Given the description of an element on the screen output the (x, y) to click on. 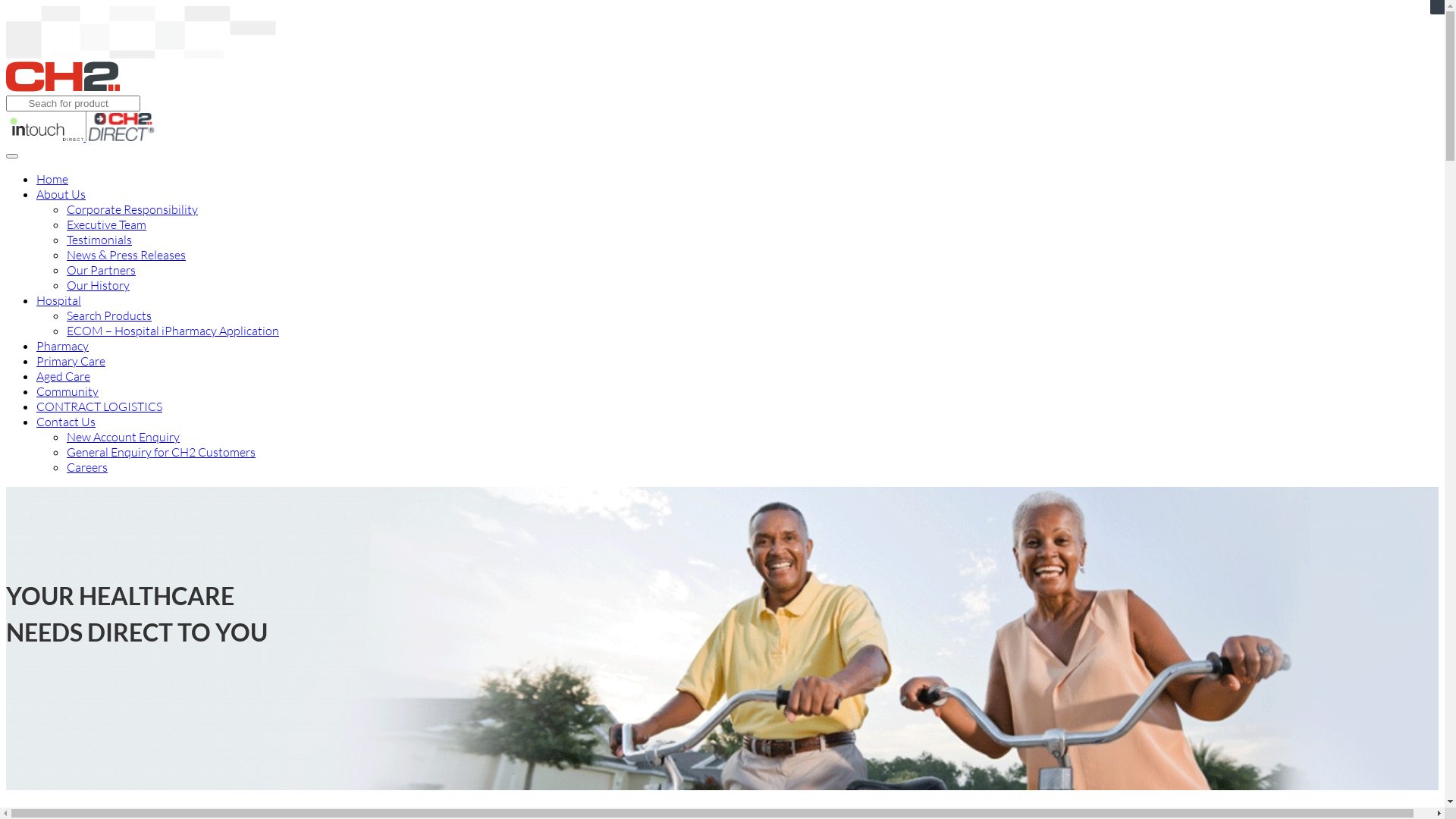
Our History Element type: text (97, 284)
Community Element type: text (67, 390)
Contact Us Element type: text (65, 421)
Hospital Element type: text (58, 299)
Pharmacy Element type: text (62, 345)
New Account Enquiry Element type: text (122, 436)
Corporate Responsibility Element type: text (131, 208)
Careers Element type: text (86, 466)
About Us Element type: text (60, 193)
General Enquiry for CH2 Customers Element type: text (160, 451)
Testimonials Element type: text (98, 239)
Home Element type: text (52, 178)
Our Partners Element type: text (100, 269)
Search Products Element type: text (108, 315)
Primary Care Element type: text (70, 360)
Aged Care Element type: text (63, 375)
Executive Team Element type: text (106, 224)
CONTRACT LOGISTICS Element type: text (99, 406)
News & Press Releases Element type: text (125, 254)
